Given the description of an element on the screen output the (x, y) to click on. 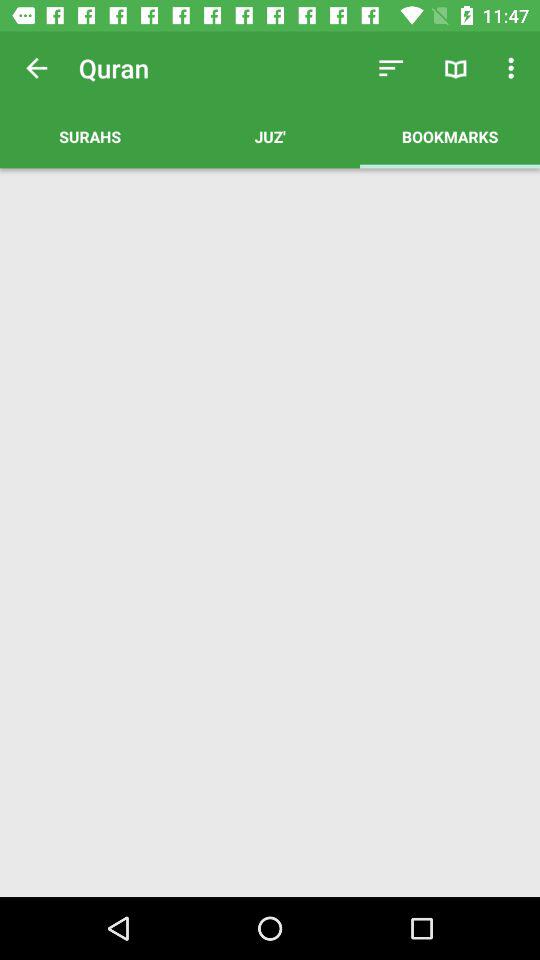
open item next to bookmarks item (270, 136)
